Given the description of an element on the screen output the (x, y) to click on. 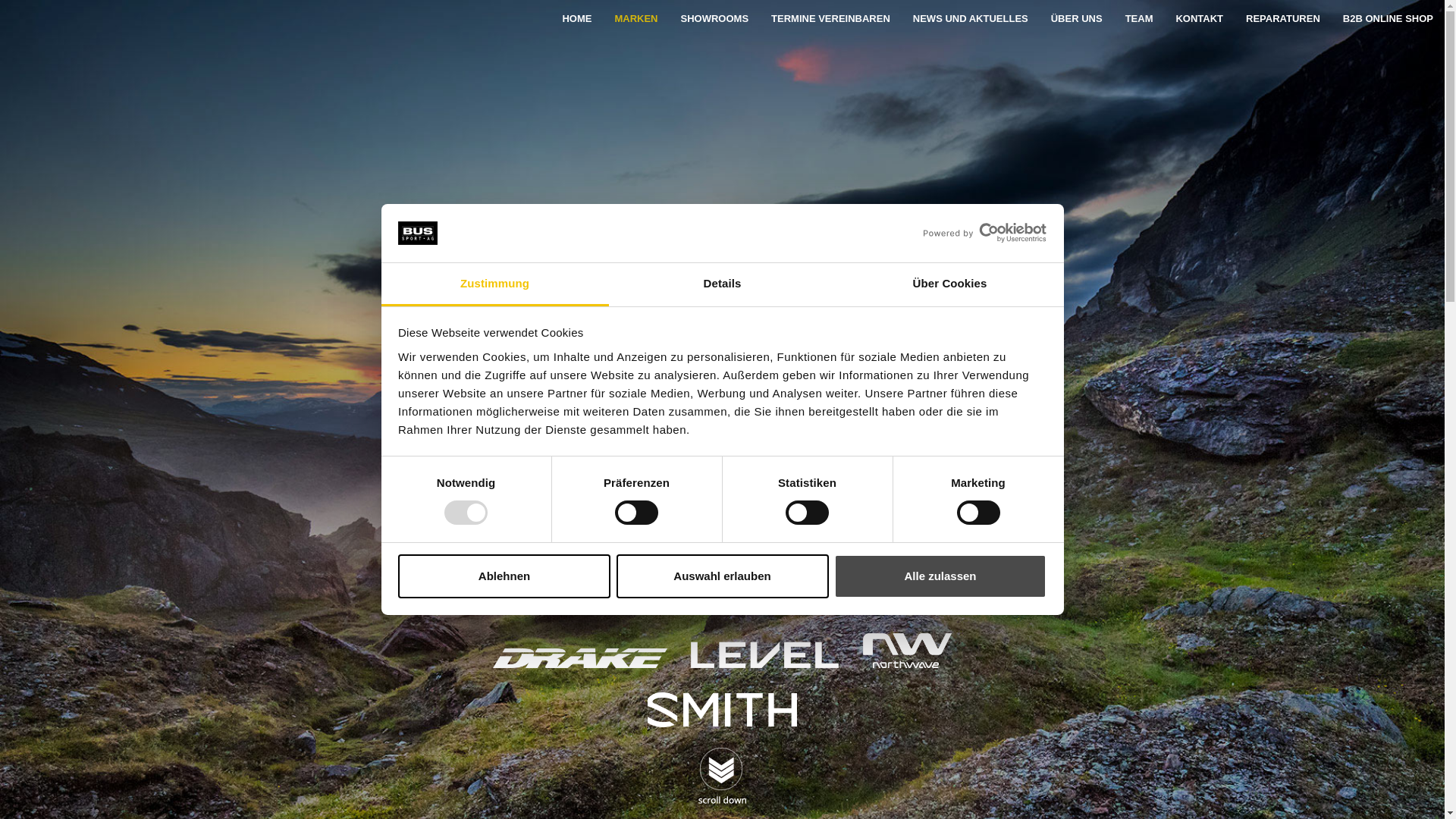
B2B ONLINE SHOP Element type: text (1387, 18)
MARKEN Element type: text (635, 18)
Ablehnen Element type: text (504, 576)
NEWS UND AKTUELLES Element type: text (970, 18)
SHOWROOMS Element type: text (713, 18)
Zustimmung Element type: text (494, 284)
Auswahl erlauben Element type: text (721, 576)
TERMINE VEREINBAREN Element type: text (830, 18)
TEAM Element type: text (1138, 18)
REPARATUREN Element type: text (1282, 18)
HOME Element type: text (576, 18)
KONTAKT Element type: text (1199, 18)
Alle zulassen Element type: text (940, 576)
Details Element type: text (721, 284)
